Given the description of an element on the screen output the (x, y) to click on. 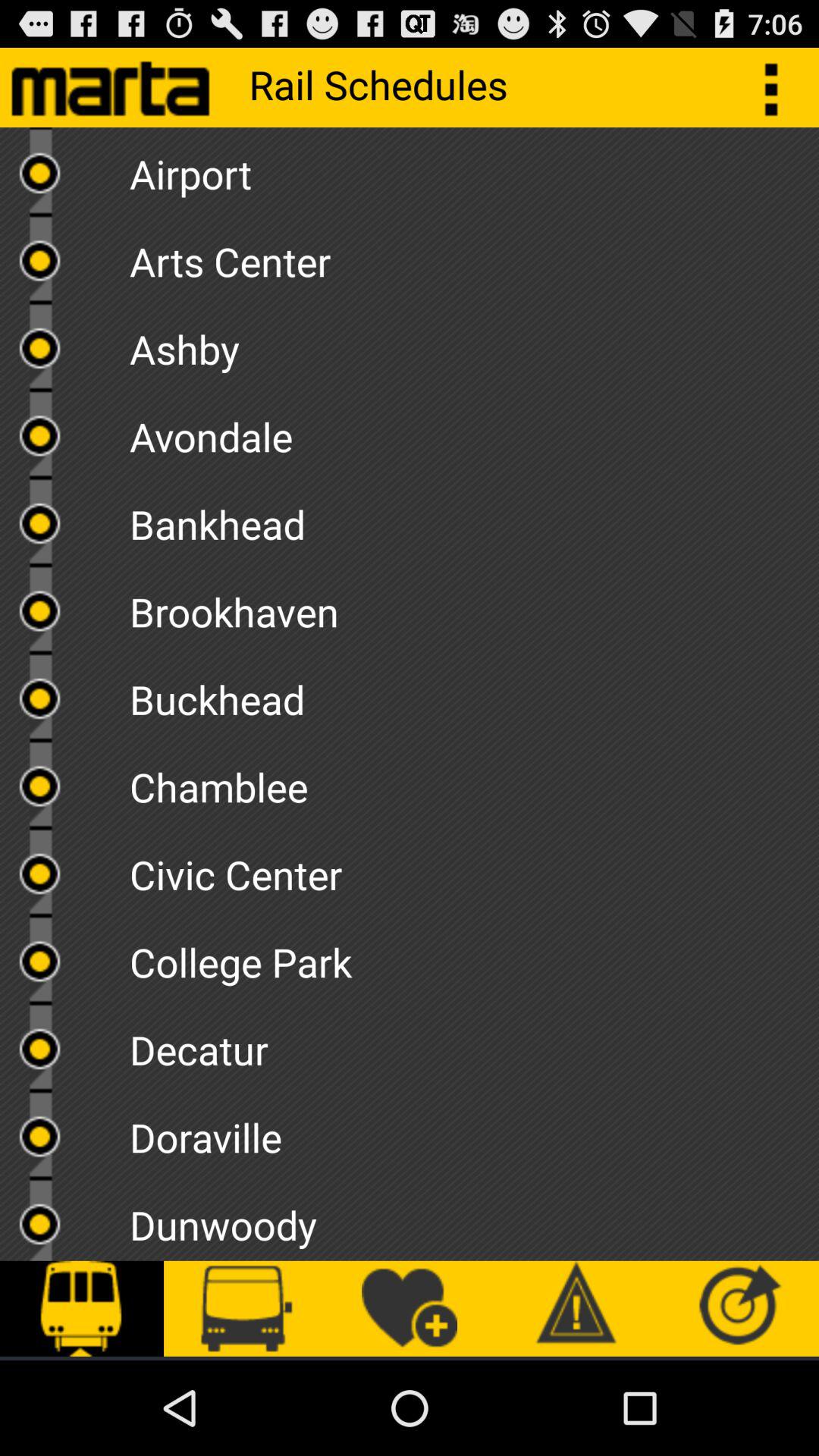
flip to buckhead (474, 693)
